Given the description of an element on the screen output the (x, y) to click on. 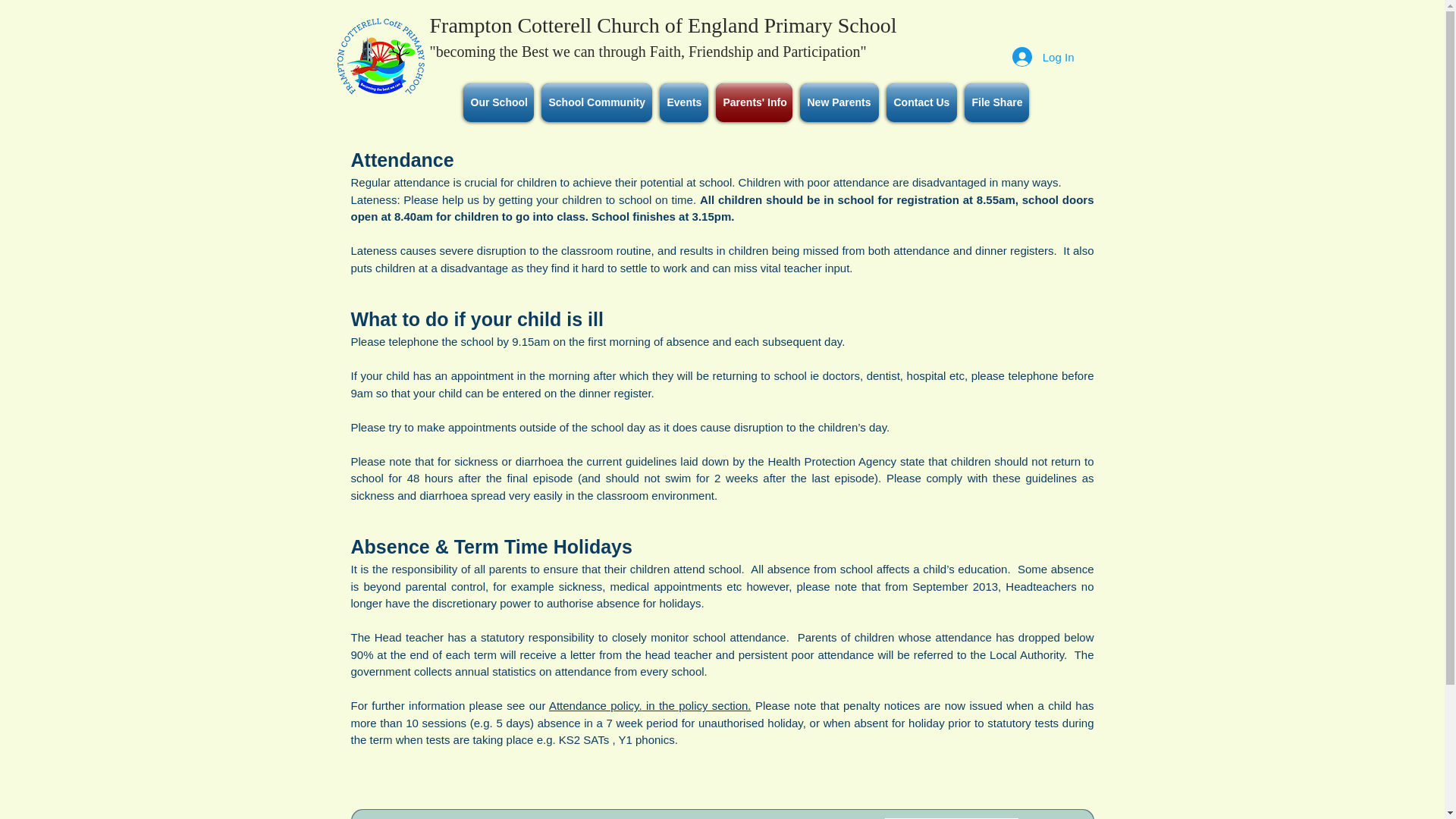
School Community (596, 102)
Our School (498, 102)
Events (683, 102)
Parents' Info (752, 102)
Log In (1042, 56)
Frampton Cotterell CofE Primary School (380, 56)
